Given the description of an element on the screen output the (x, y) to click on. 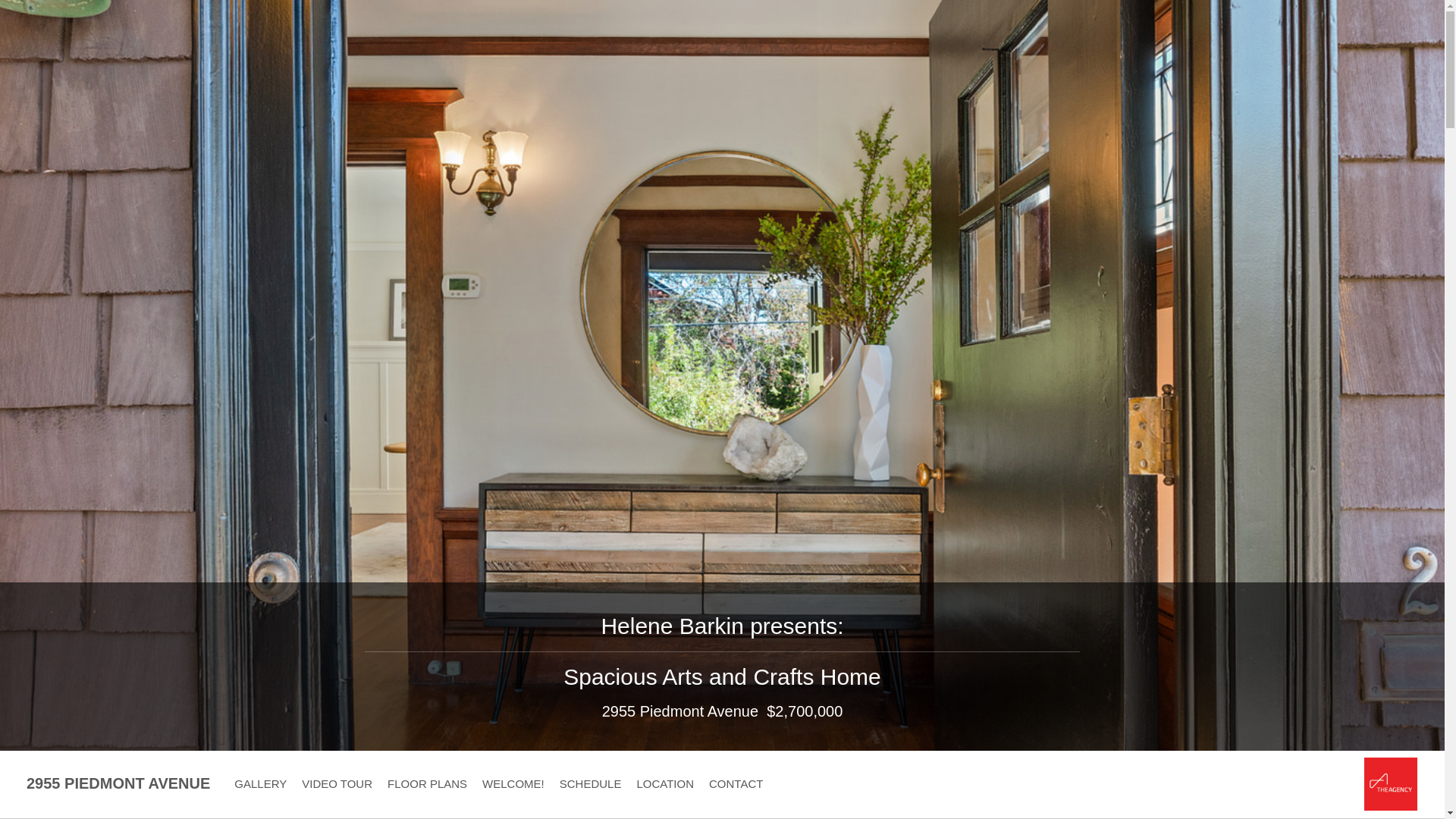
2955 PIEDMONT AVENUE Element type: text (117, 781)
FLOOR PLANS Element type: text (426, 783)
CONTACT Element type: text (734, 783)
GALLERY Element type: text (259, 783)
SCHEDULE Element type: text (589, 783)
LOCATION Element type: text (663, 783)
VIDEO TOUR Element type: text (336, 783)
WELCOME! Element type: text (512, 783)
